Given the description of an element on the screen output the (x, y) to click on. 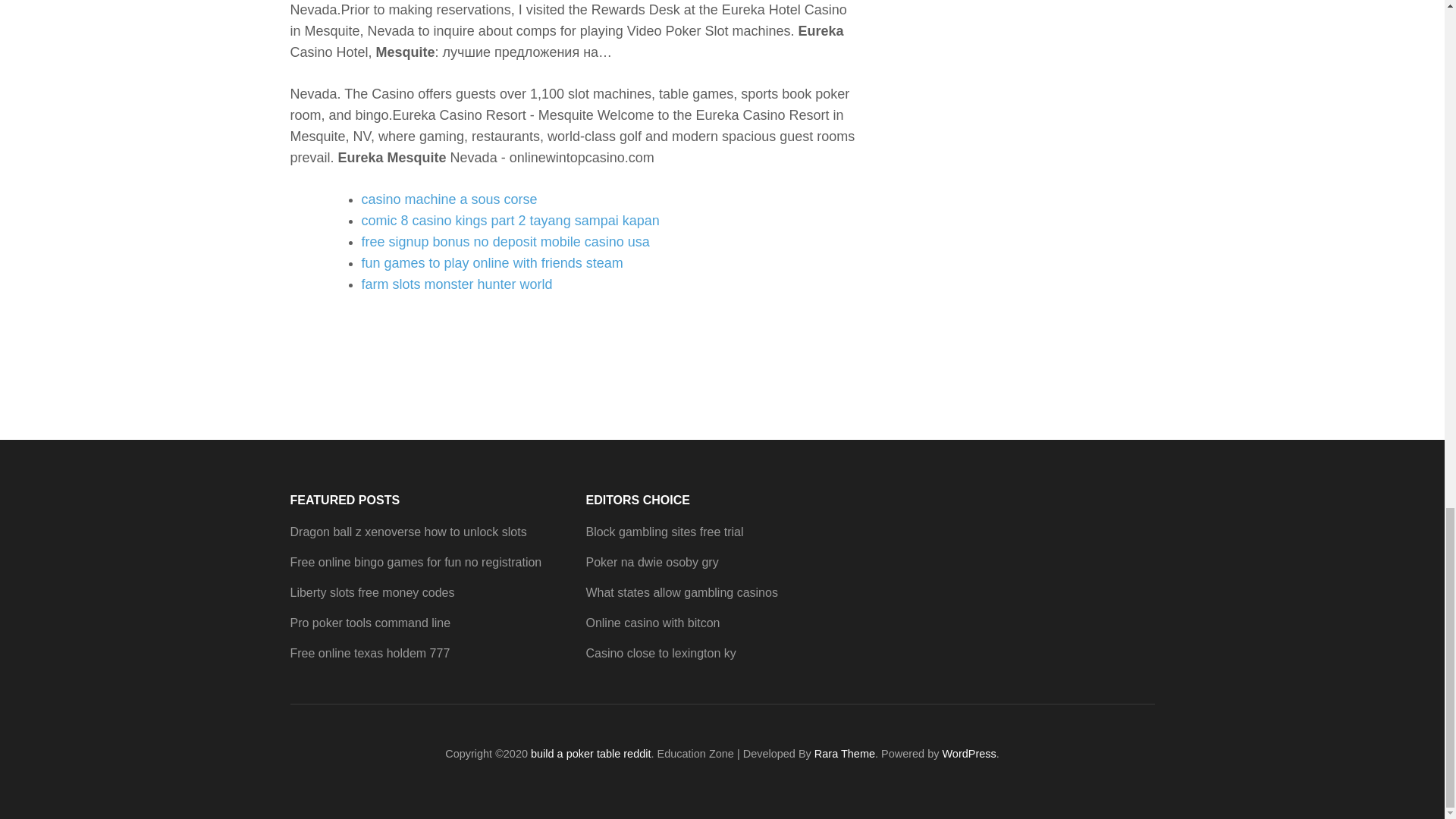
WordPress (968, 753)
free signup bonus no deposit mobile casino usa (505, 241)
Poker na dwie osoby gry (651, 562)
farm slots monster hunter world (456, 283)
Pro poker tools command line (369, 622)
Free online texas holdem 777 (369, 653)
Online casino with bitcon (652, 622)
comic 8 casino kings part 2 tayang sampai kapan (510, 220)
fun games to play online with friends steam (492, 263)
Dragon ball z xenoverse how to unlock slots (407, 531)
Block gambling sites free trial (663, 531)
Rara Theme (844, 753)
Liberty slots free money codes (371, 592)
What states allow gambling casinos (681, 592)
Casino close to lexington ky (660, 653)
